Given the description of an element on the screen output the (x, y) to click on. 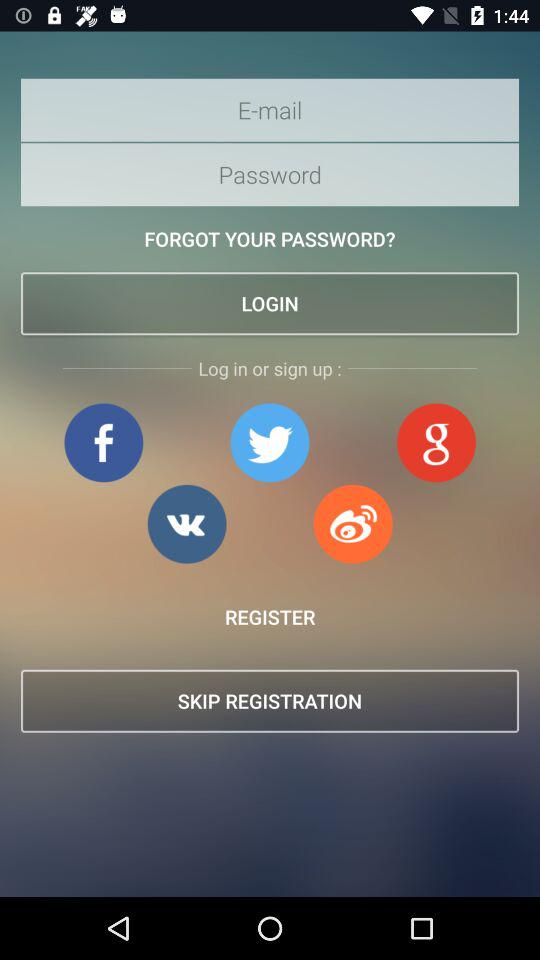
swipe until forgot your password? button (270, 238)
